Given the description of an element on the screen output the (x, y) to click on. 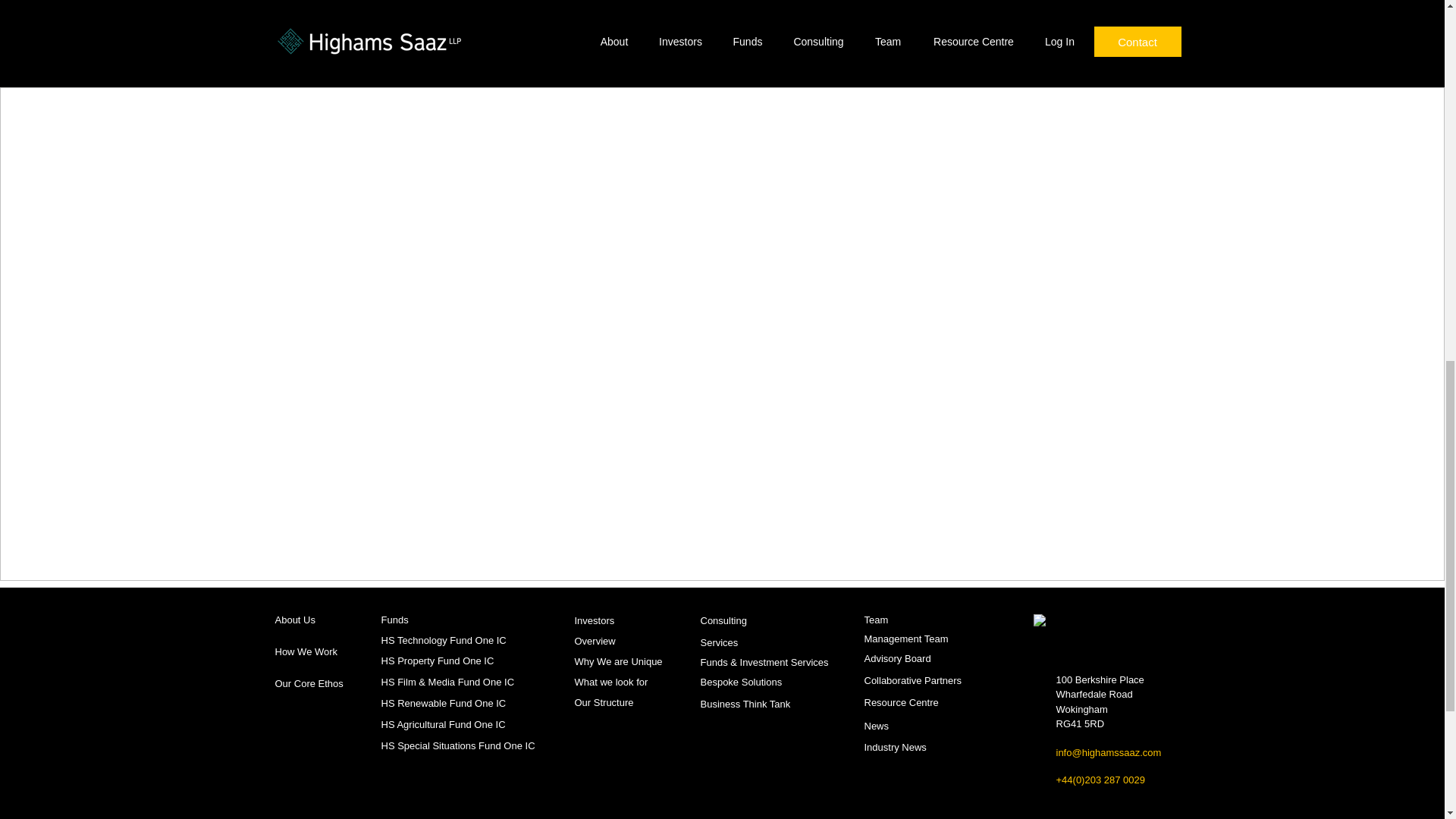
Management Team (906, 638)
About Us (294, 619)
Bespoke Solutions (741, 681)
What we look for (611, 681)
Overview (595, 641)
Our Structure (604, 702)
HS Technology Fund One IC (442, 640)
Why We are Unique (618, 661)
Our Core Ethos (308, 683)
Consulting (723, 620)
